Given the description of an element on the screen output the (x, y) to click on. 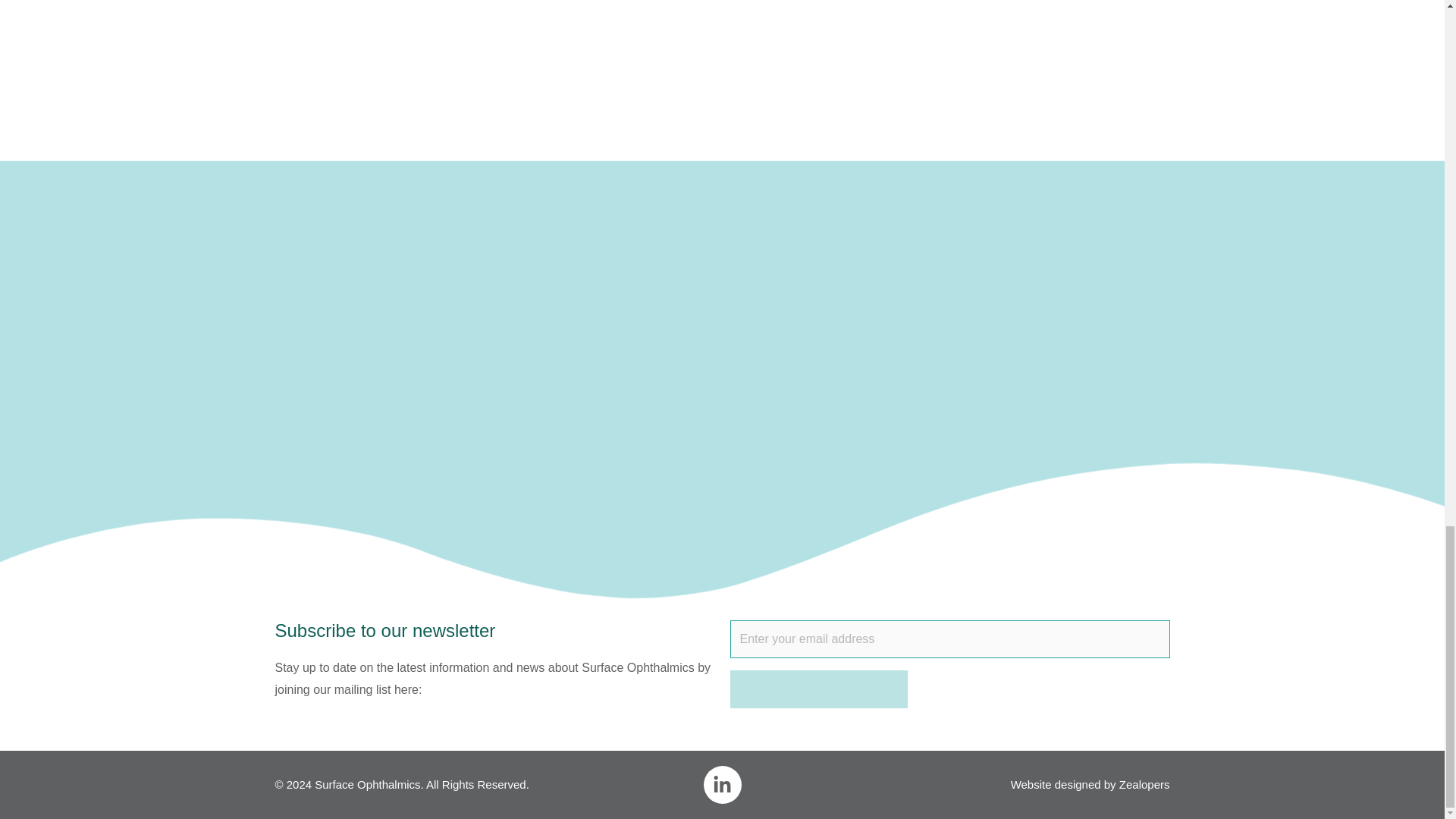
Subscribe Now (818, 689)
Subscribe Now (818, 689)
Website designed (1055, 784)
